Given the description of an element on the screen output the (x, y) to click on. 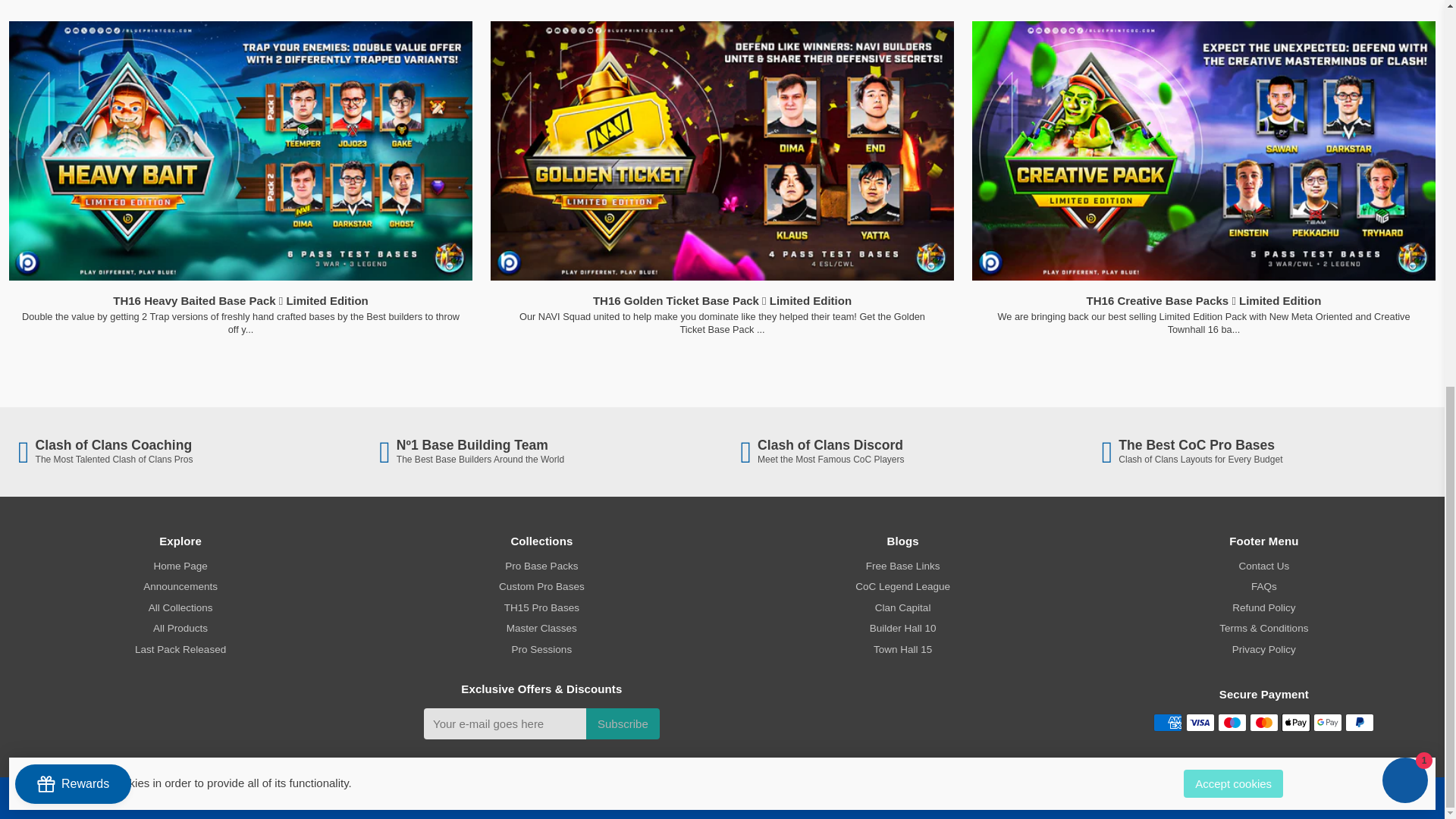
Visa (1200, 722)
American Express (1167, 722)
Shopify online store chat (1404, 51)
Mastercard (1263, 722)
Google Pay (1327, 722)
PayPal (1359, 722)
Apple Pay (1295, 722)
Maestro (1231, 722)
